Given the description of an element on the screen output the (x, y) to click on. 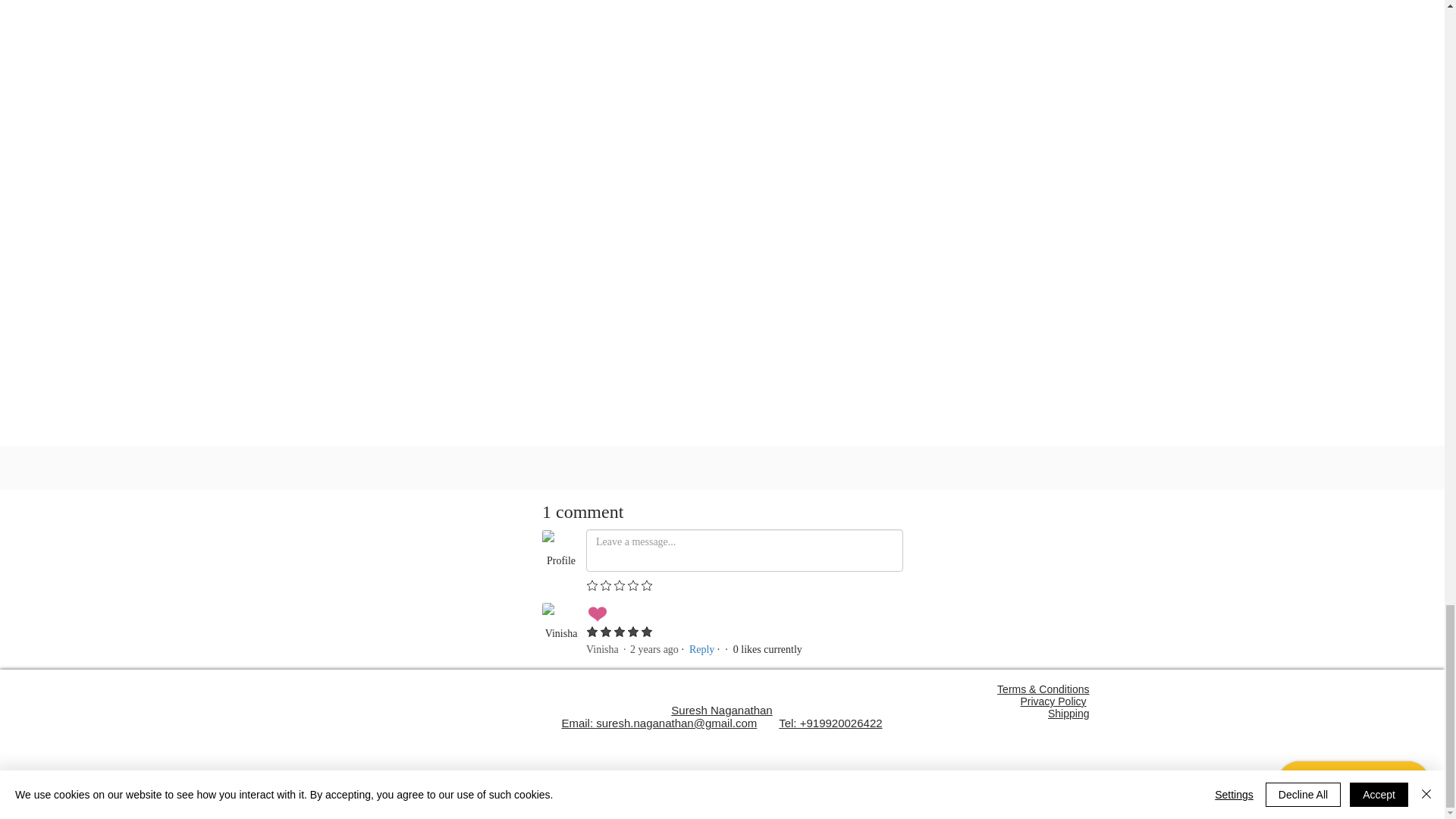
Comments (721, 579)
Facebook Like (721, 474)
Privacy Policy (1053, 701)
Shipping (1068, 713)
